Given the description of an element on the screen output the (x, y) to click on. 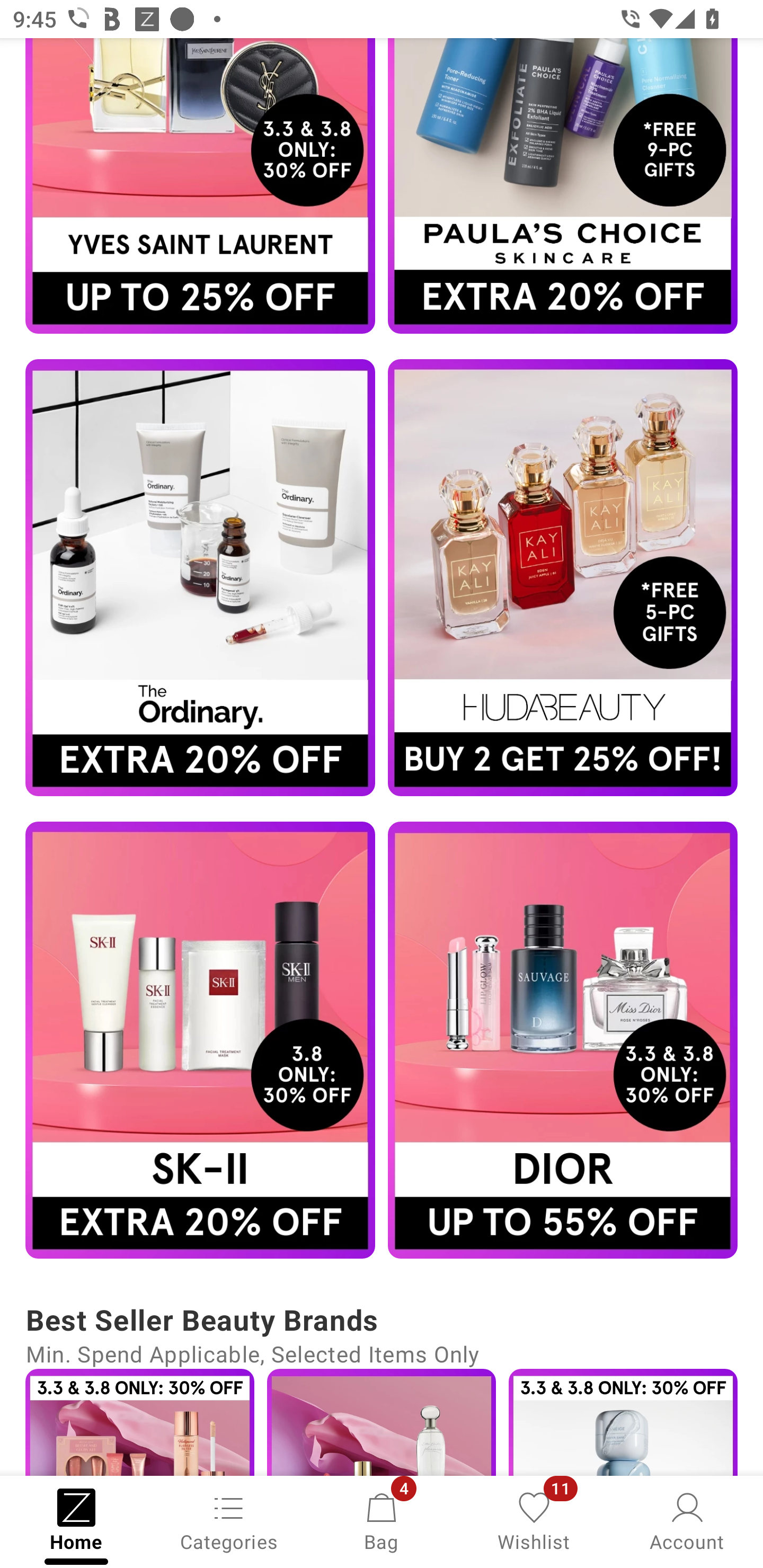
Campaign banner (200, 185)
Campaign banner (562, 185)
Campaign banner (200, 577)
Campaign banner (562, 577)
Campaign banner (200, 1040)
Campaign banner (562, 1040)
Categories (228, 1519)
Bag, 4 new notifications Bag (381, 1519)
Wishlist, 11 new notifications Wishlist (533, 1519)
Account (686, 1519)
